Given the description of an element on the screen output the (x, y) to click on. 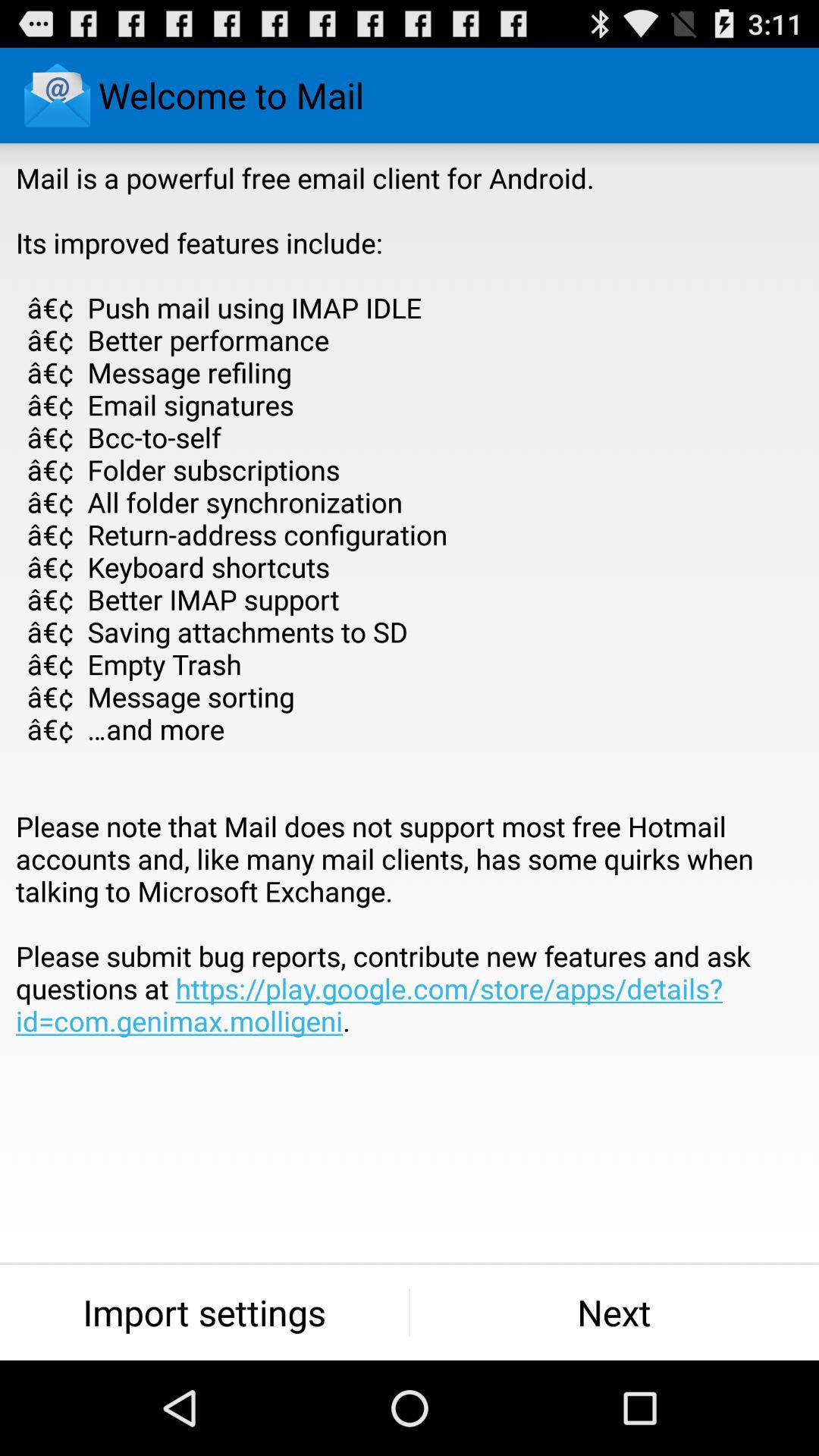
click item to the right of the import settings icon (614, 1312)
